Given the description of an element on the screen output the (x, y) to click on. 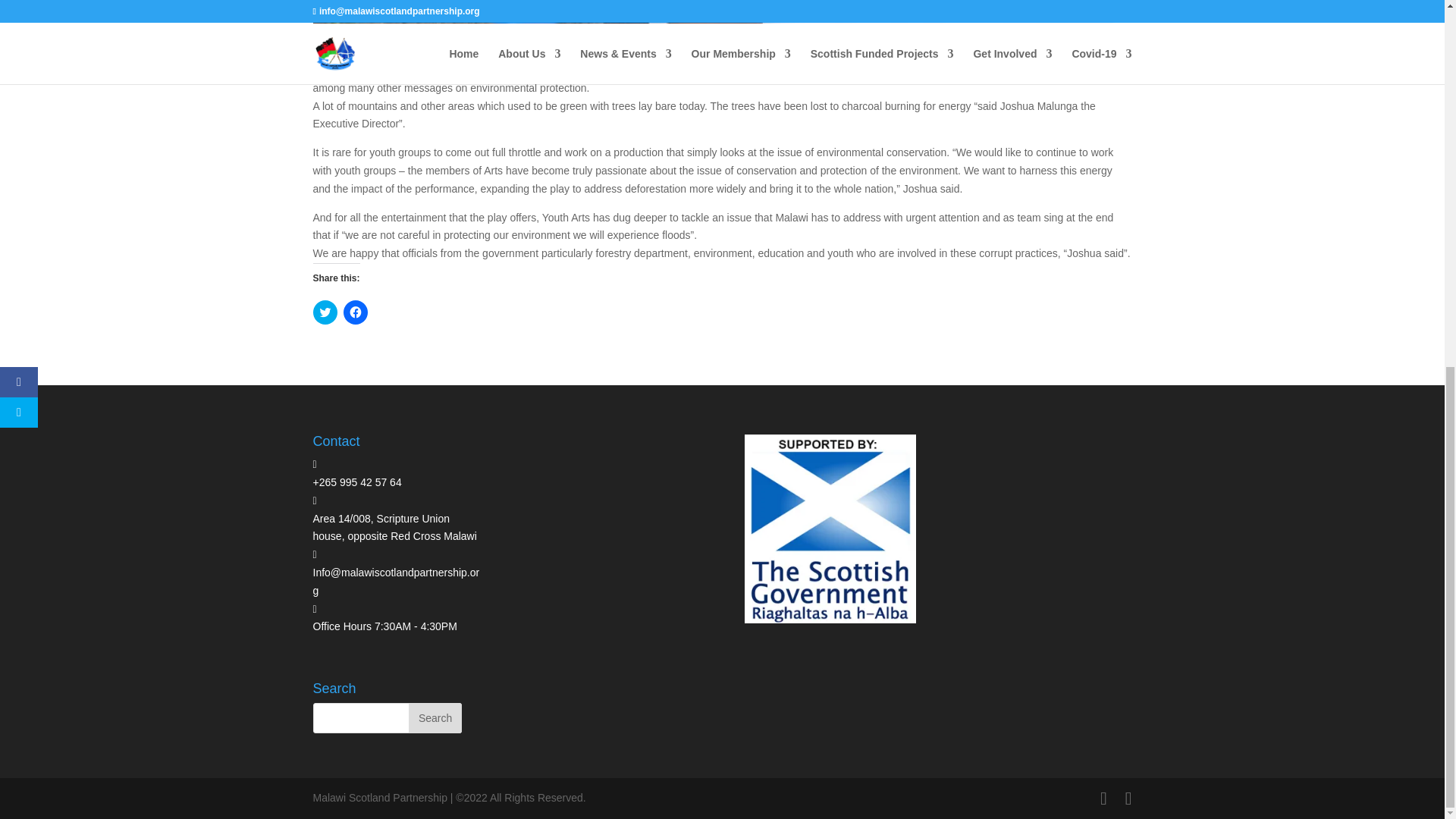
Search (435, 717)
Click to share on Facebook (354, 312)
Click to share on Twitter (324, 312)
